Given the description of an element on the screen output the (x, y) to click on. 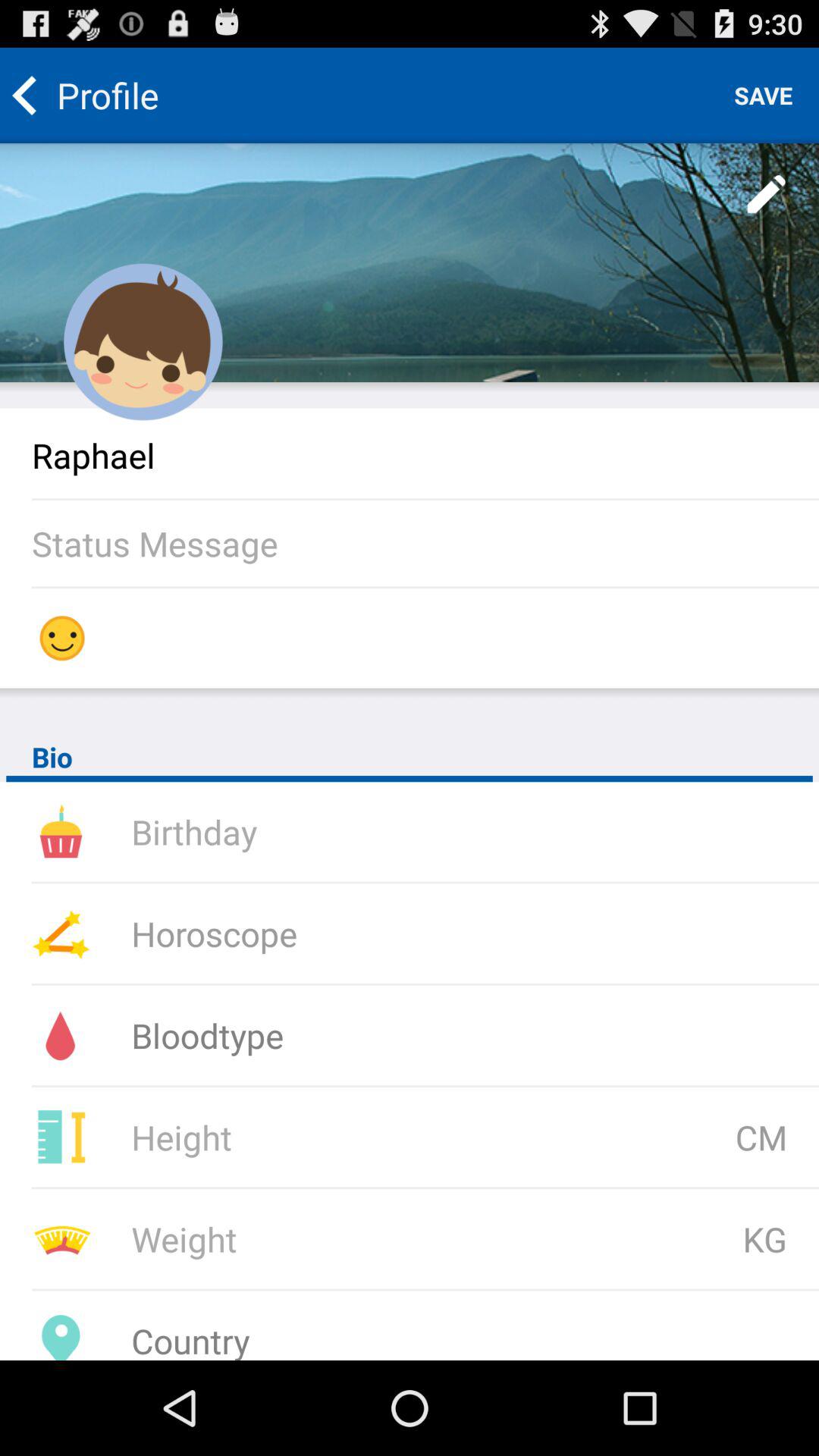
select avatar (142, 342)
